Given the description of an element on the screen output the (x, y) to click on. 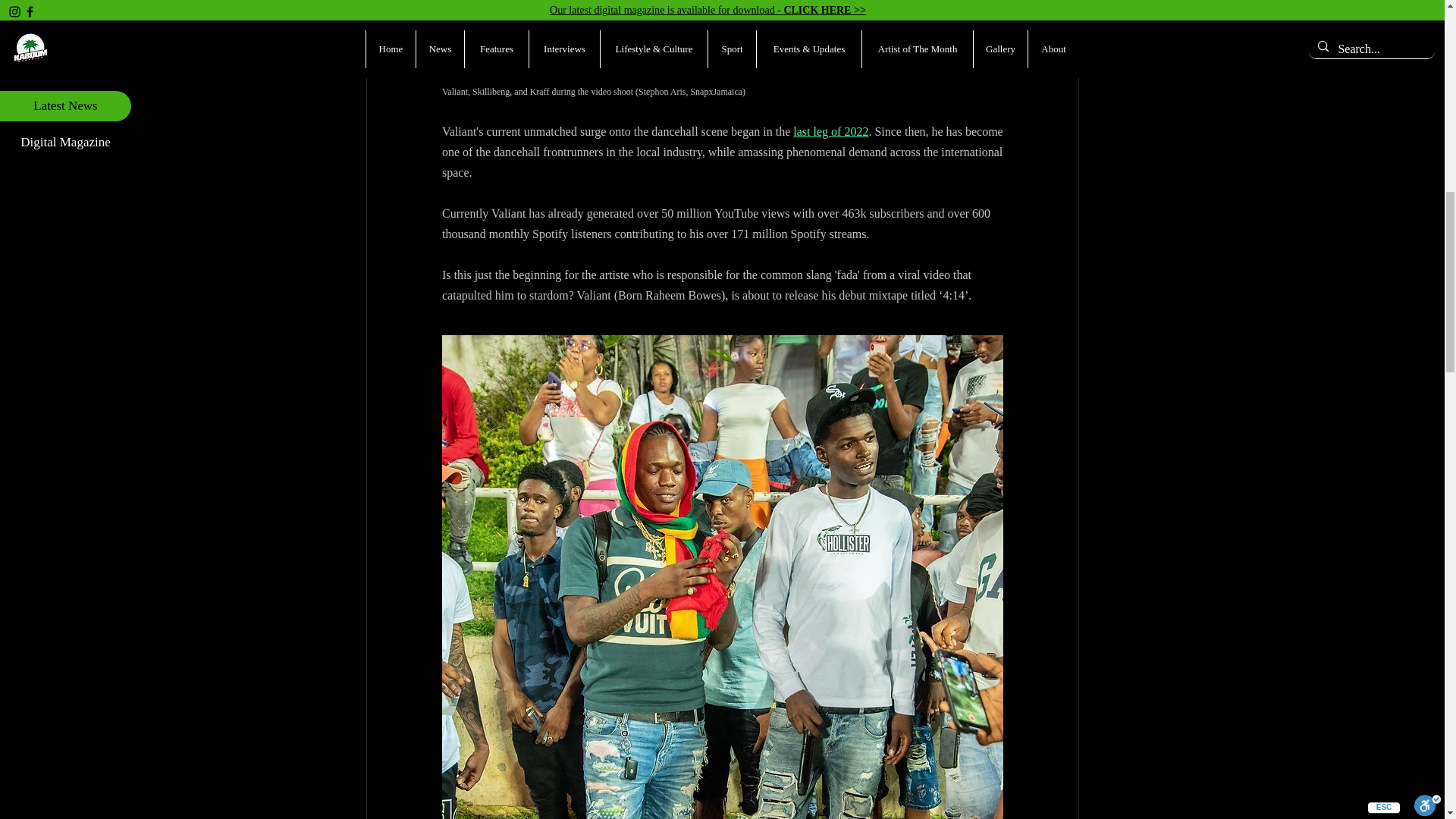
Highlighting all links marked with link tag (737, 32)
Inverting the colors of the screen display (565, 32)
Presentation of alternative descriptions permanently (911, 32)
Presenting an alternative description on mouseover (825, 32)
Highlighting all headings marked with title tag (652, 32)
last leg of 2022 (830, 130)
Cancel and Stop display flashes and animations (133, 32)
Replace all the fonts to a readable fonts (997, 32)
Navigation on the screen with the keyboard (46, 32)
